Given the description of an element on the screen output the (x, y) to click on. 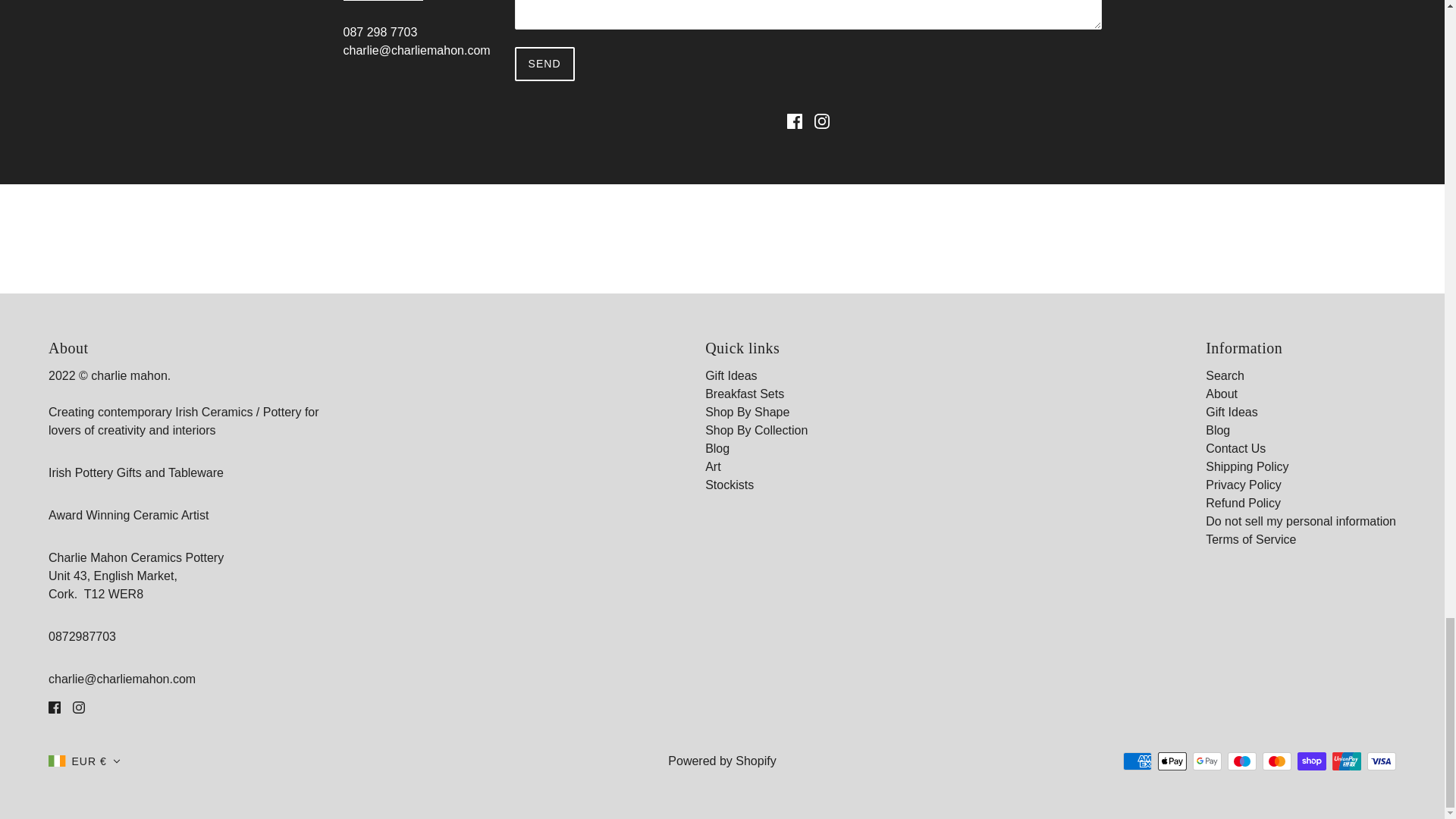
Contact Us (1235, 448)
Shop By Shape  (746, 411)
About (1221, 393)
Stockists (729, 484)
Breakfast Sets (744, 393)
Mastercard (1276, 761)
Google Pay (1206, 761)
Gift Ideas (730, 375)
Gift Ideas (1231, 411)
Shop By Collection (756, 430)
American Express (1136, 761)
Do not sell my personal information (1300, 521)
Shipping Policy (1246, 466)
Apple Pay (1171, 761)
Blog (1217, 430)
